Given the description of an element on the screen output the (x, y) to click on. 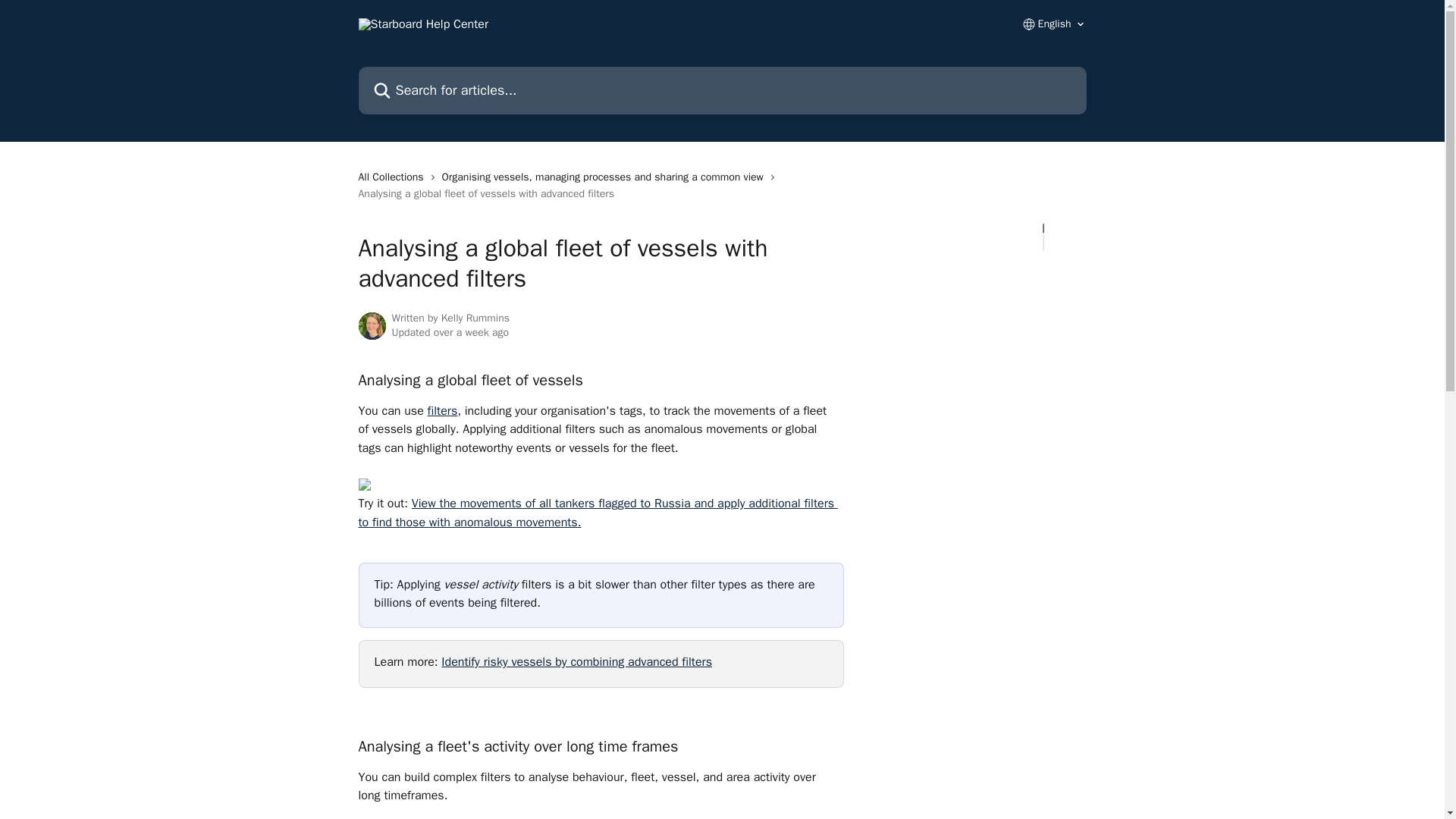
Identify risky vessels by combining advanced filters (576, 661)
All Collections (393, 176)
filters (443, 410)
